Given the description of an element on the screen output the (x, y) to click on. 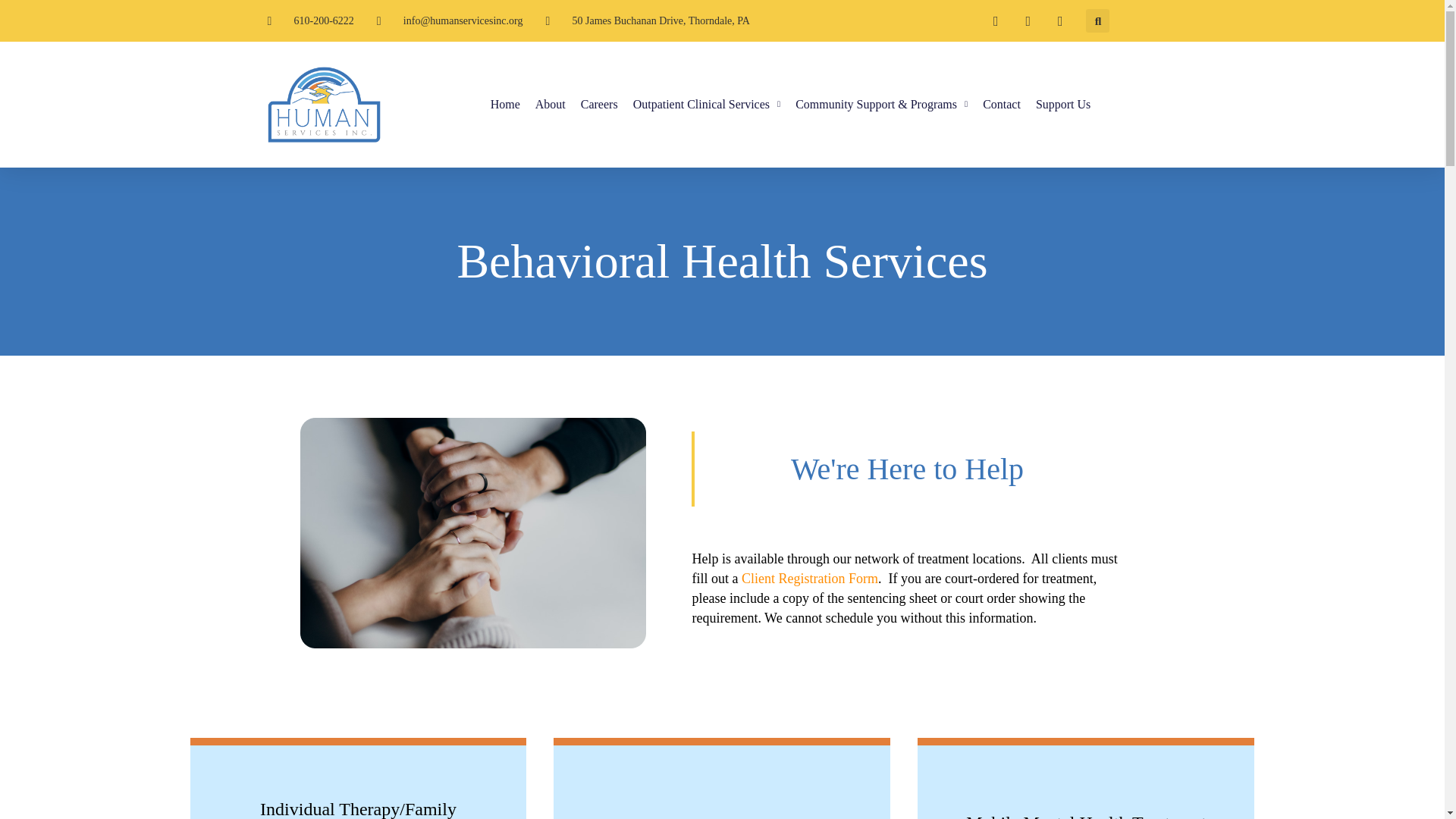
Support Us (1062, 104)
Outpatient Clinical Services (706, 104)
Contact (1001, 104)
Careers (598, 104)
